Given the description of an element on the screen output the (x, y) to click on. 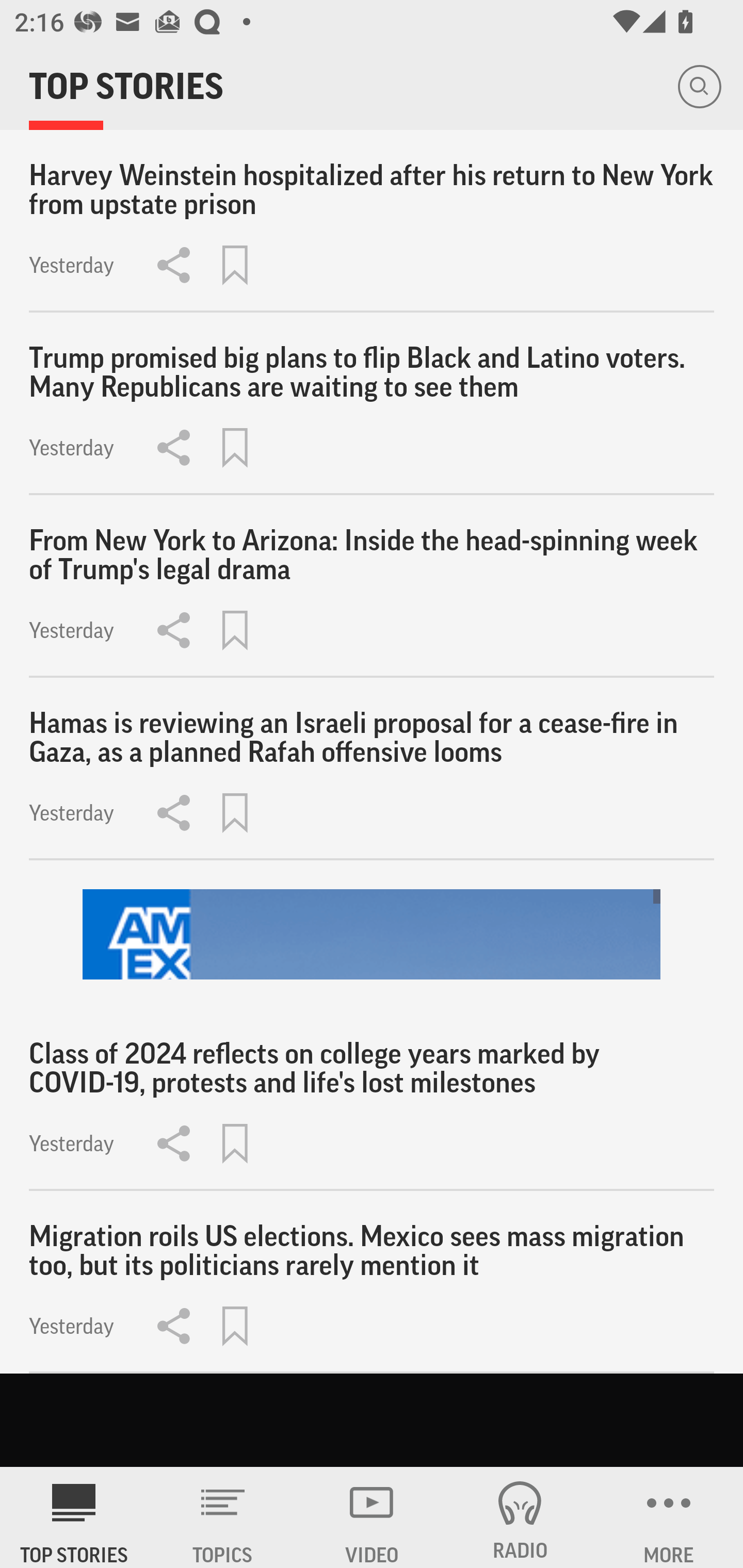
6617a94004d5672cf07b09d7 (371, 934)
AP News TOP STORIES (74, 1517)
TOPICS (222, 1517)
VIDEO (371, 1517)
RADIO (519, 1517)
MORE (668, 1517)
